Given the description of an element on the screen output the (x, y) to click on. 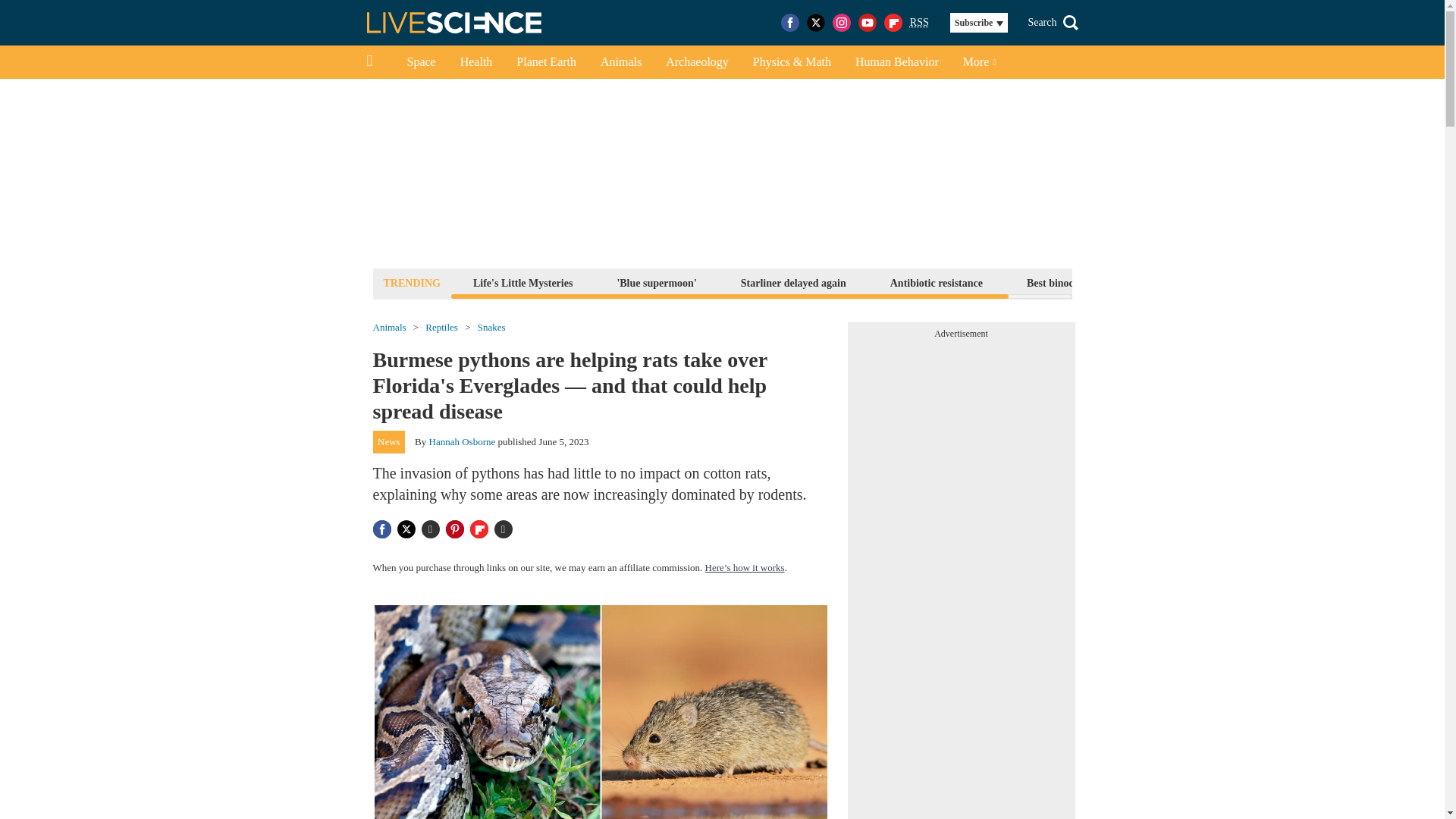
Starliner delayed again (793, 282)
Planet Earth (545, 61)
Animals (389, 327)
Archaeology (697, 61)
Best binoculars 2024 (1073, 282)
Really Simple Syndication (919, 21)
Reptiles (441, 327)
News (389, 441)
Hannah Osborne (462, 441)
'Blue supermoon' (656, 282)
